Given the description of an element on the screen output the (x, y) to click on. 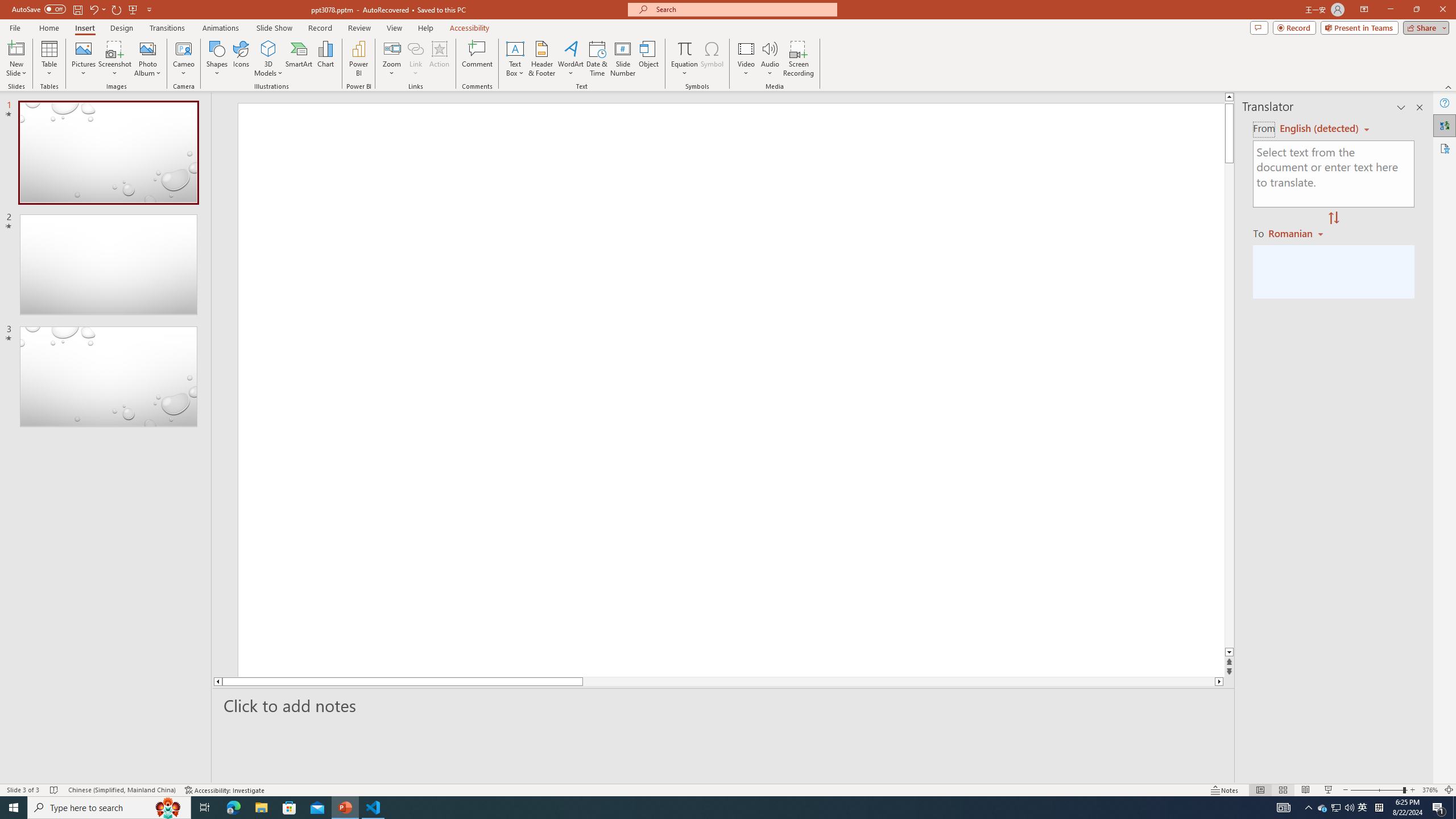
Header & Footer... (541, 58)
Screen Recording... (798, 58)
SmartArt... (298, 58)
Photo Album... (147, 58)
Chart... (325, 58)
Object... (649, 58)
Draw Horizontal Text Box (515, 48)
3D Models (268, 48)
